Given the description of an element on the screen output the (x, y) to click on. 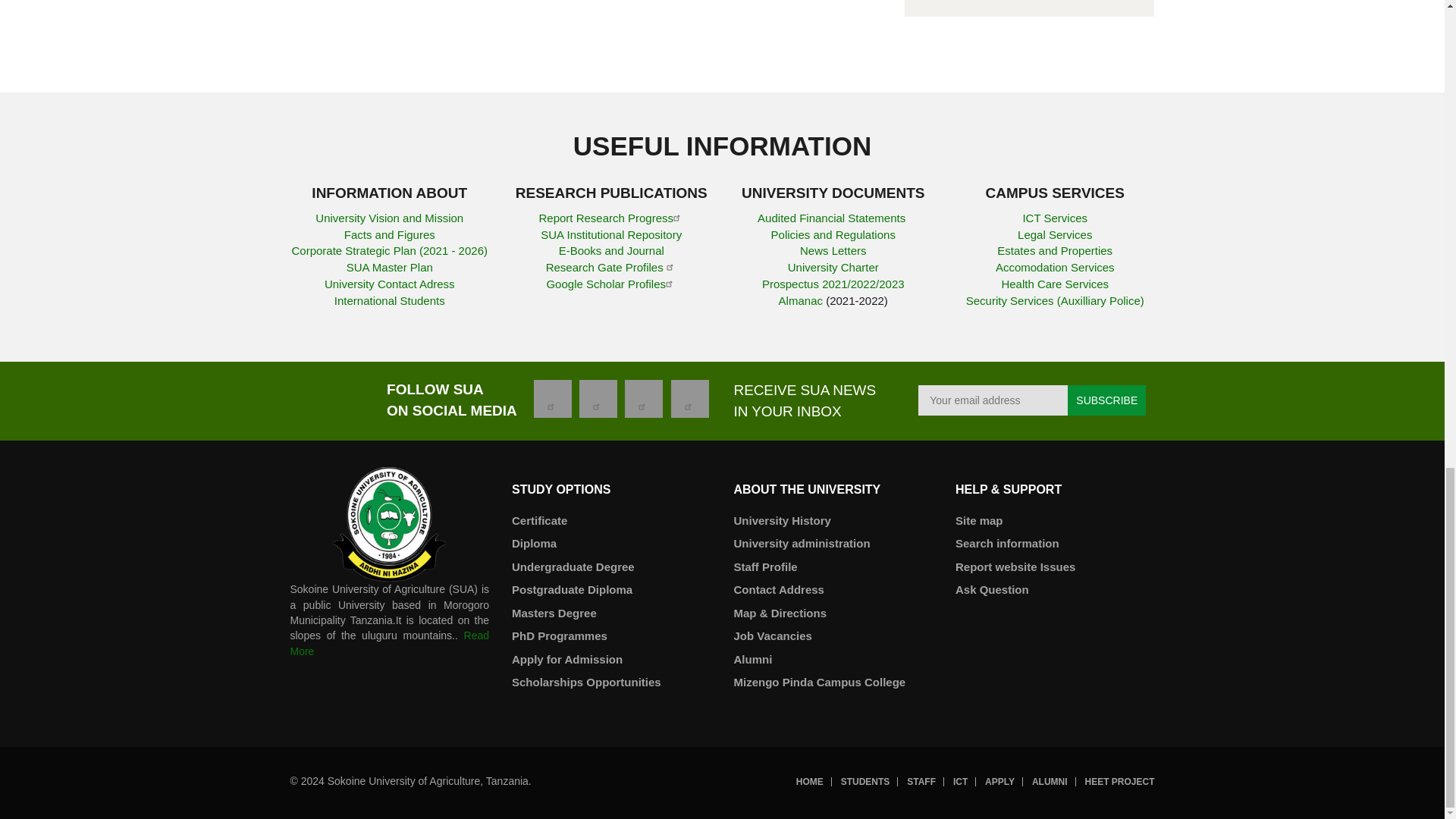
Subscribe (1106, 399)
